Given the description of an element on the screen output the (x, y) to click on. 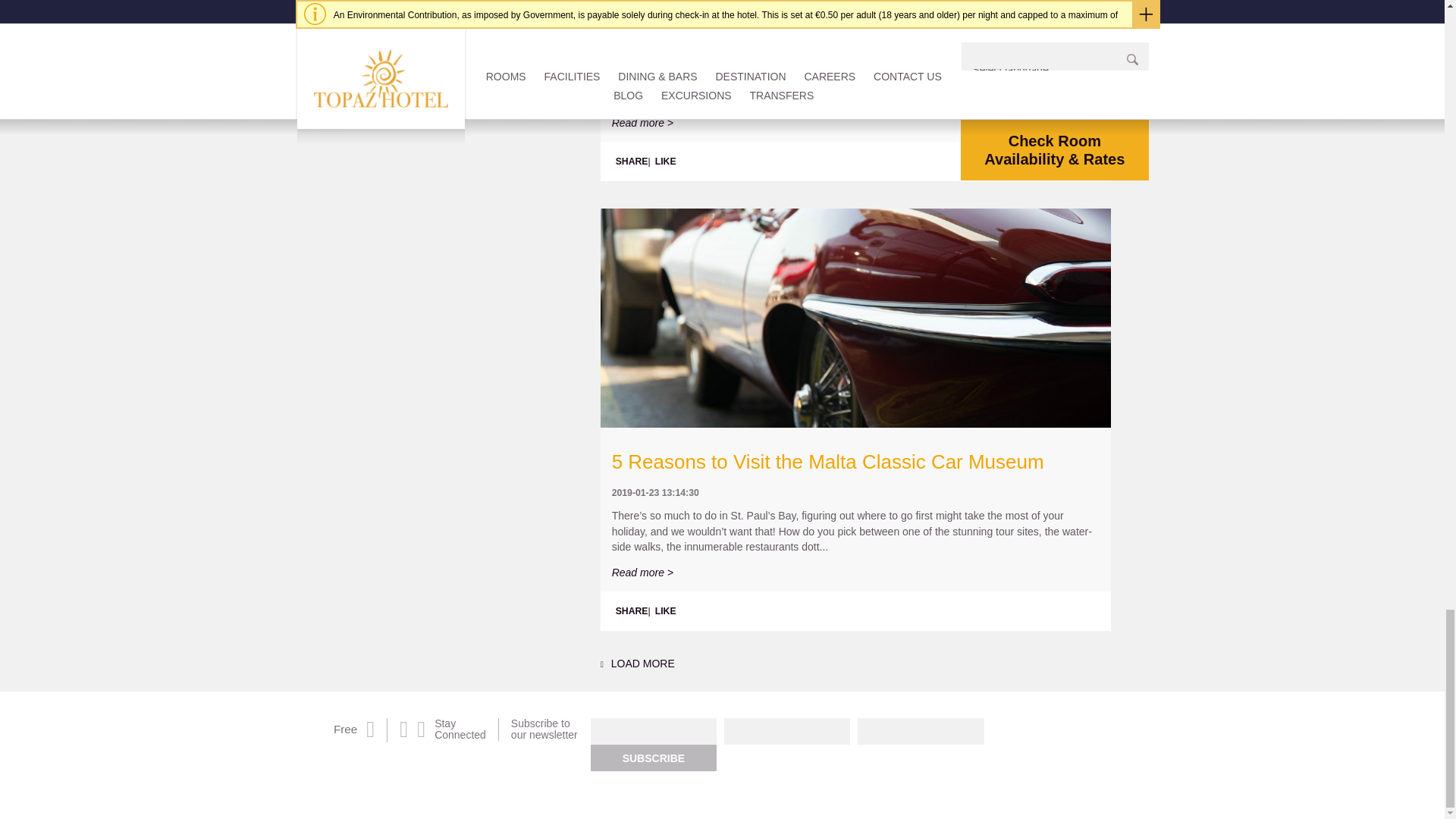
LIKE (666, 610)
Subscribe (653, 757)
LIKE (666, 160)
5 Reasons to Visit the Malta Classic Car Museum (827, 461)
LOAD MORE (637, 663)
